Given the description of an element on the screen output the (x, y) to click on. 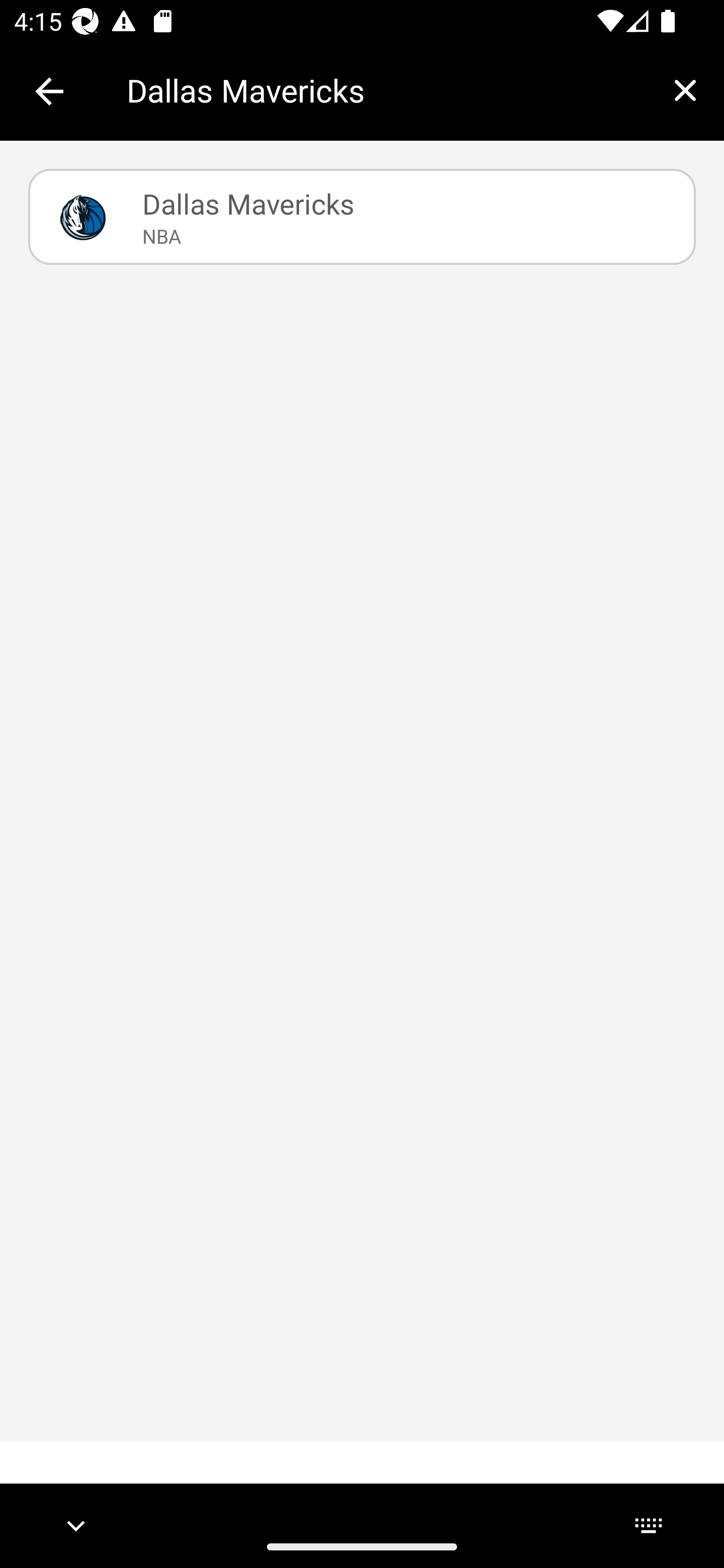
Collapse (49, 91)
Clear query (685, 89)
Dallas Mavericks (386, 90)
Dallas Mavericks NBA (361, 216)
